Given the description of an element on the screen output the (x, y) to click on. 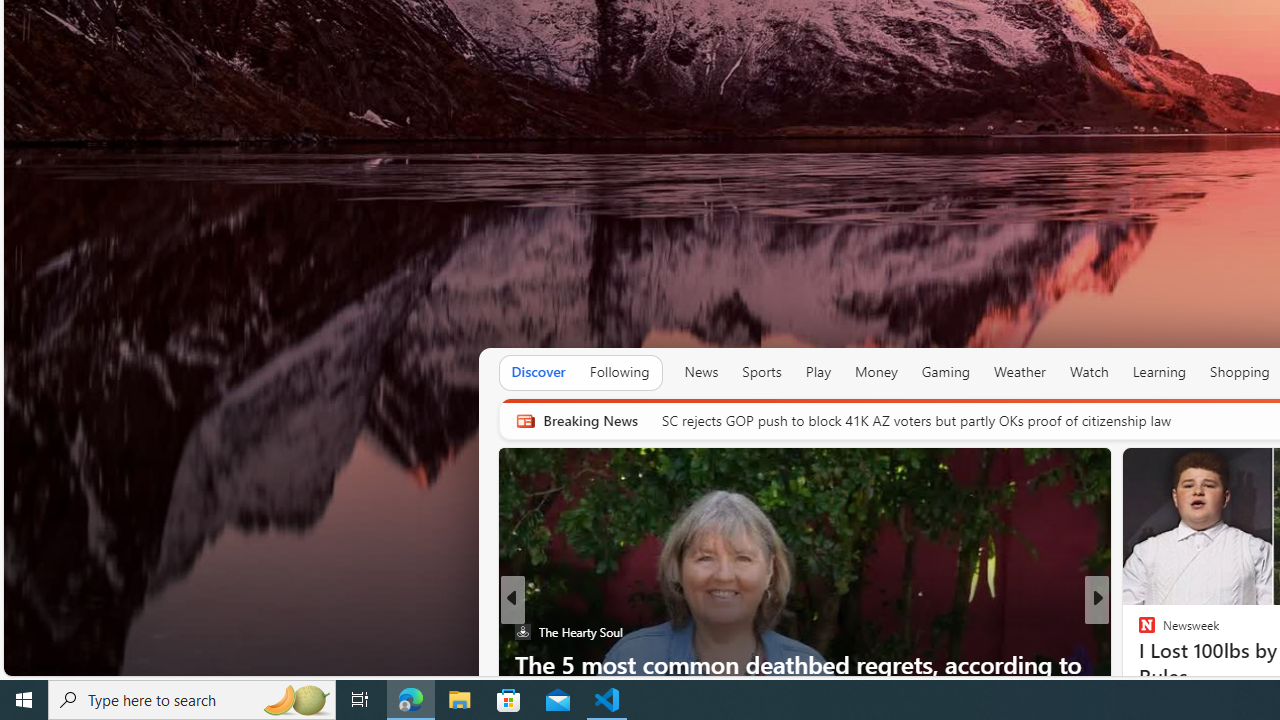
XDA Developers (1138, 632)
The Hearty Soul (522, 632)
